Given the description of an element on the screen output the (x, y) to click on. 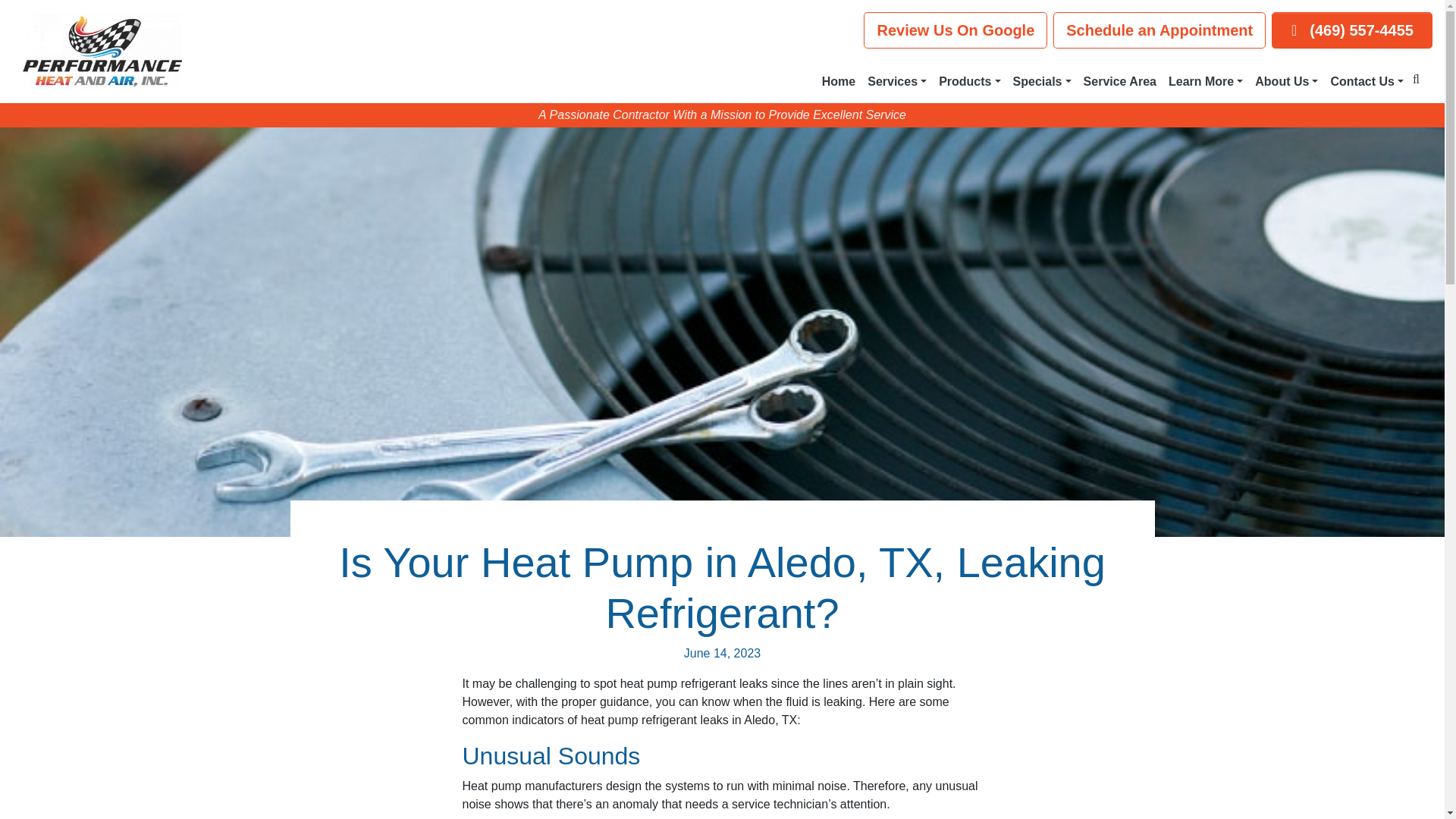
Schedule an Appointment (1158, 30)
Review Us On Google (954, 30)
Service Area (1119, 81)
About Us (1286, 81)
Home (838, 81)
Learn More (1205, 81)
Specials (1042, 81)
Services (897, 81)
Products (969, 81)
Contact Us (1366, 81)
